Given the description of an element on the screen output the (x, y) to click on. 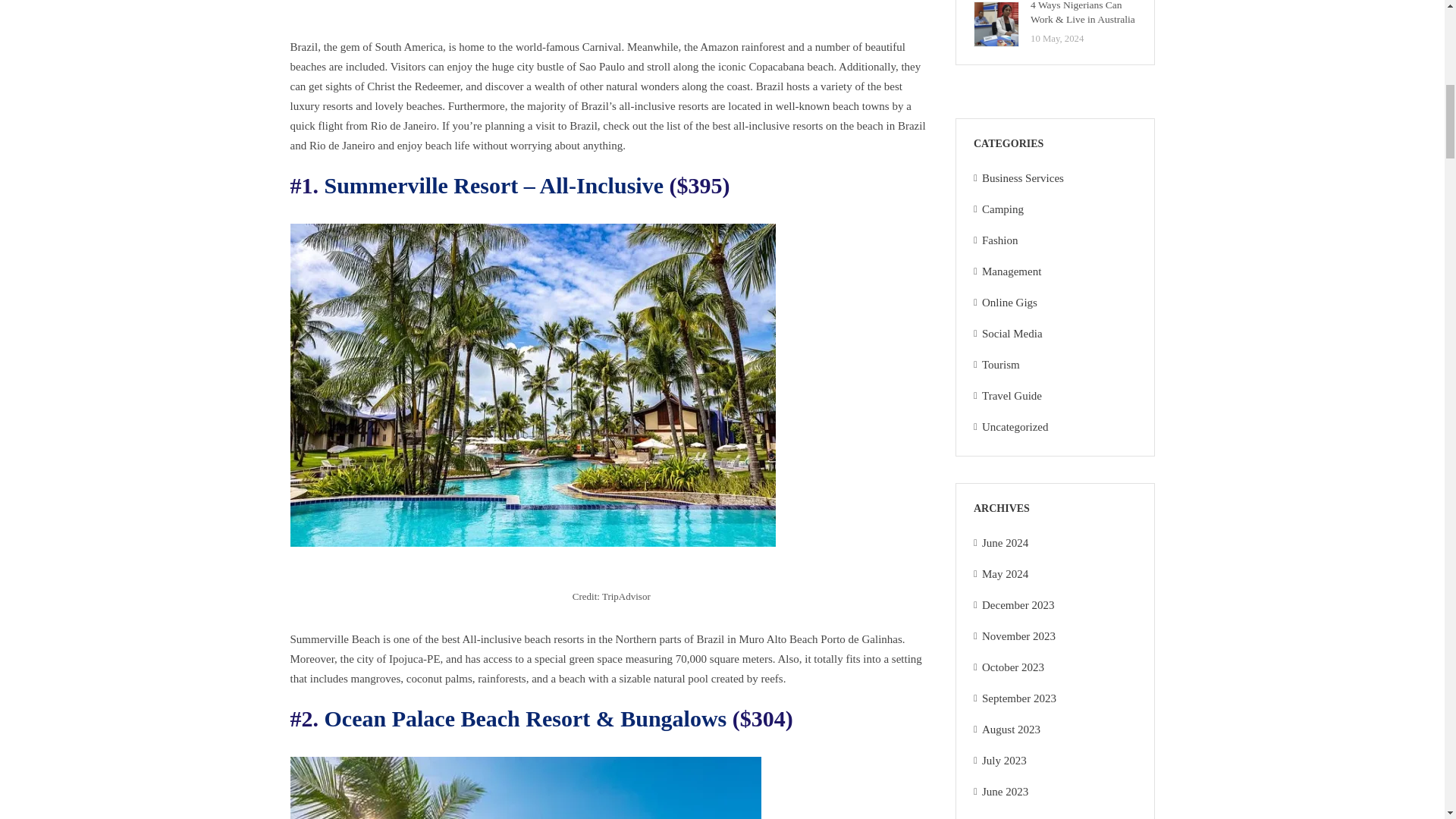
Advertisement (611, 12)
